Given the description of an element on the screen output the (x, y) to click on. 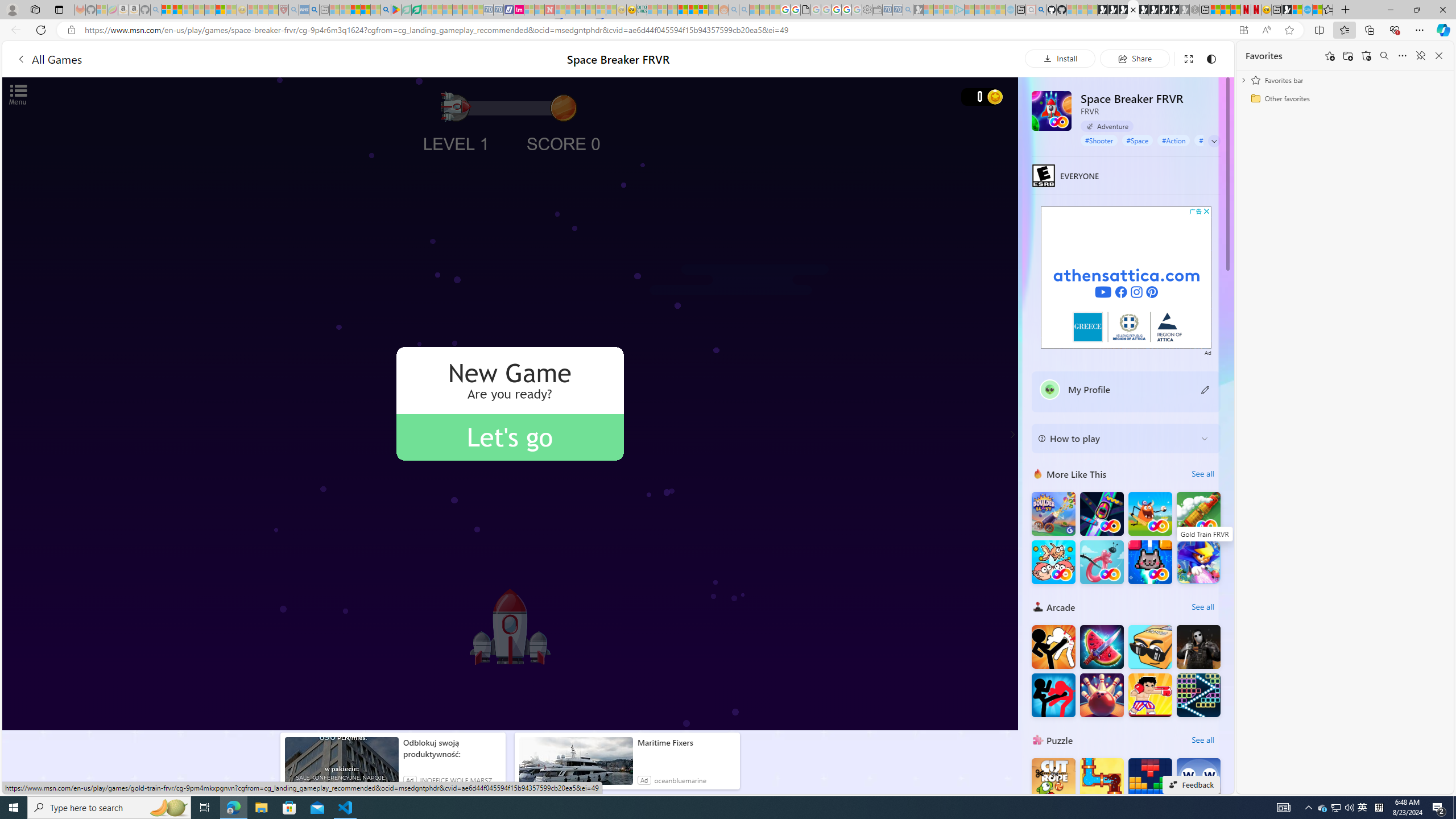
Settings - Sleeping (866, 9)
All Games (49, 58)
Fruit Chopper (1101, 646)
App available. Install Space Breaker FRVR (1243, 29)
See all (1202, 739)
All Games (216, 58)
Change to dark mode (1211, 58)
Space Breaker FRVR (1051, 110)
